Given the description of an element on the screen output the (x, y) to click on. 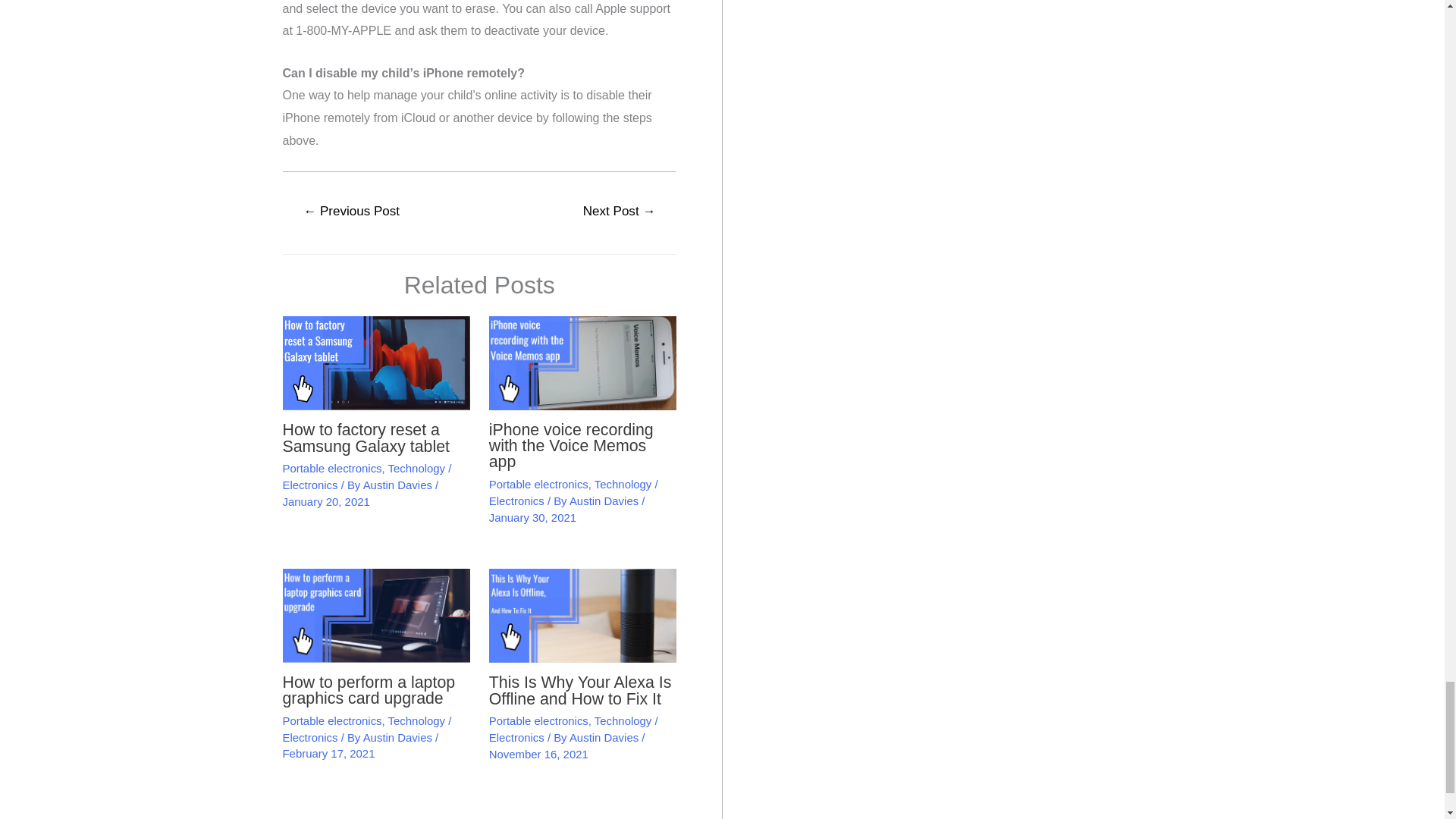
View all posts by Austin Davies (398, 737)
View all posts by Austin Davies (605, 500)
View all posts by Austin Davies (605, 737)
View all posts by Austin Davies (398, 484)
